Given the description of an element on the screen output the (x, y) to click on. 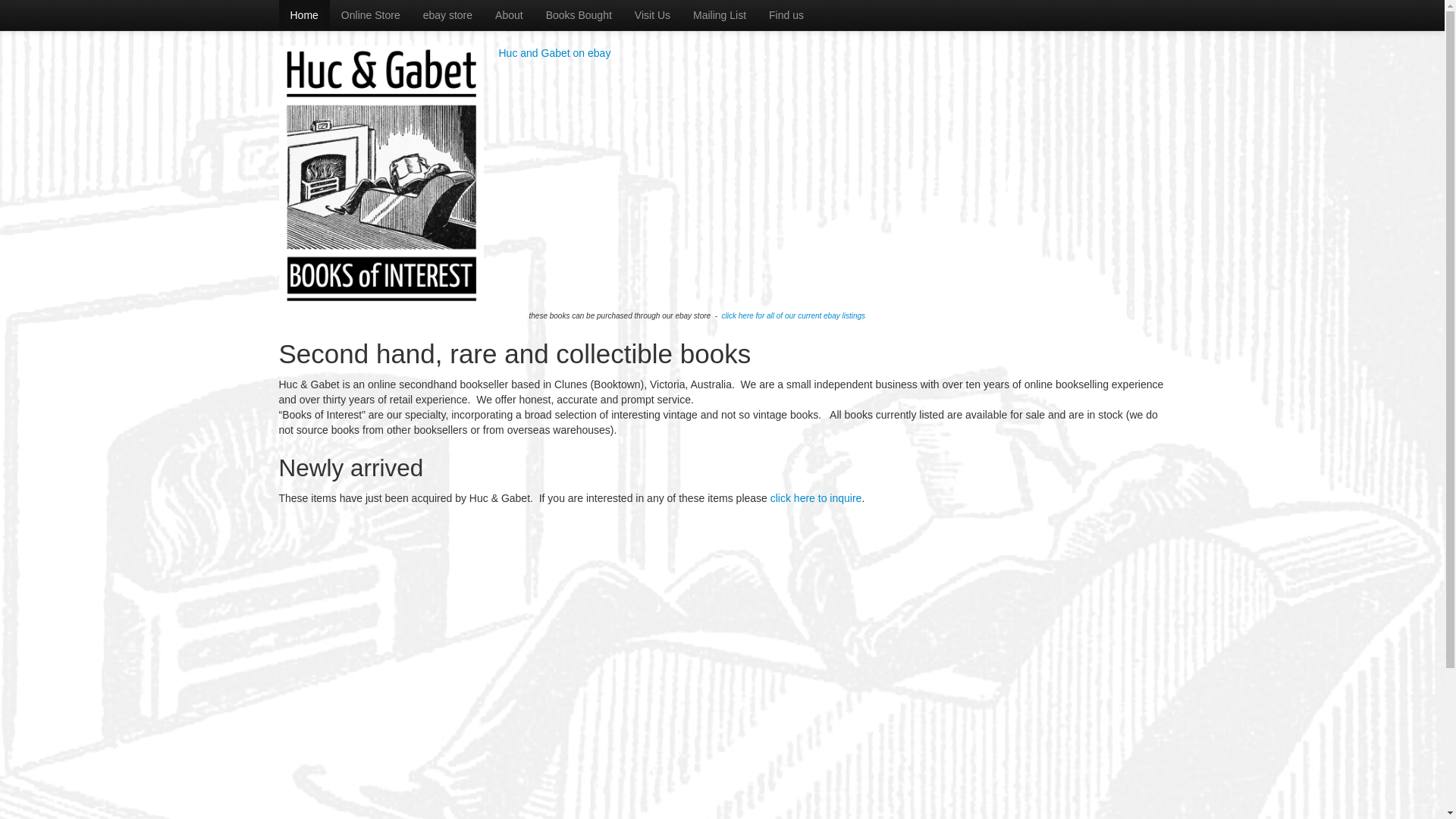
Huc and Gabet on ebay Element type: text (554, 53)
click here to inquire Element type: text (816, 498)
Online Store Element type: text (370, 15)
About Element type: text (508, 15)
Home Element type: text (304, 15)
ebay store Element type: text (447, 15)
click here for all of our current ebay listings Element type: text (793, 315)
Visit Us Element type: text (652, 15)
Books Bought Element type: text (578, 15)
Find us Element type: text (786, 15)
Mailing List Element type: text (719, 15)
Huc & Gabet - Books of Interest Element type: hover (381, 176)
